Given the description of an element on the screen output the (x, y) to click on. 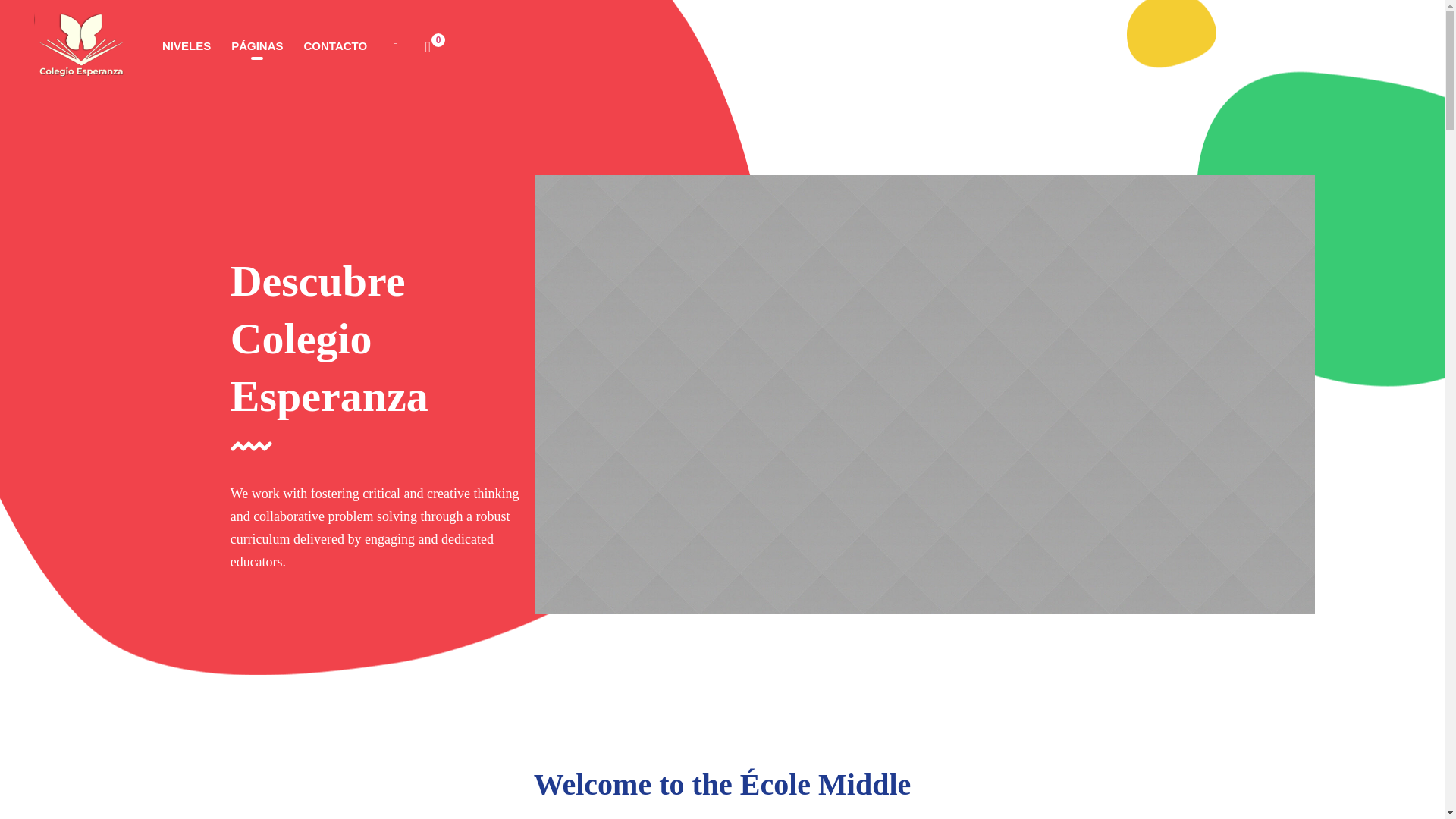
CONTACTO (335, 45)
NIVELES (186, 45)
0 (427, 46)
